Given the description of an element on the screen output the (x, y) to click on. 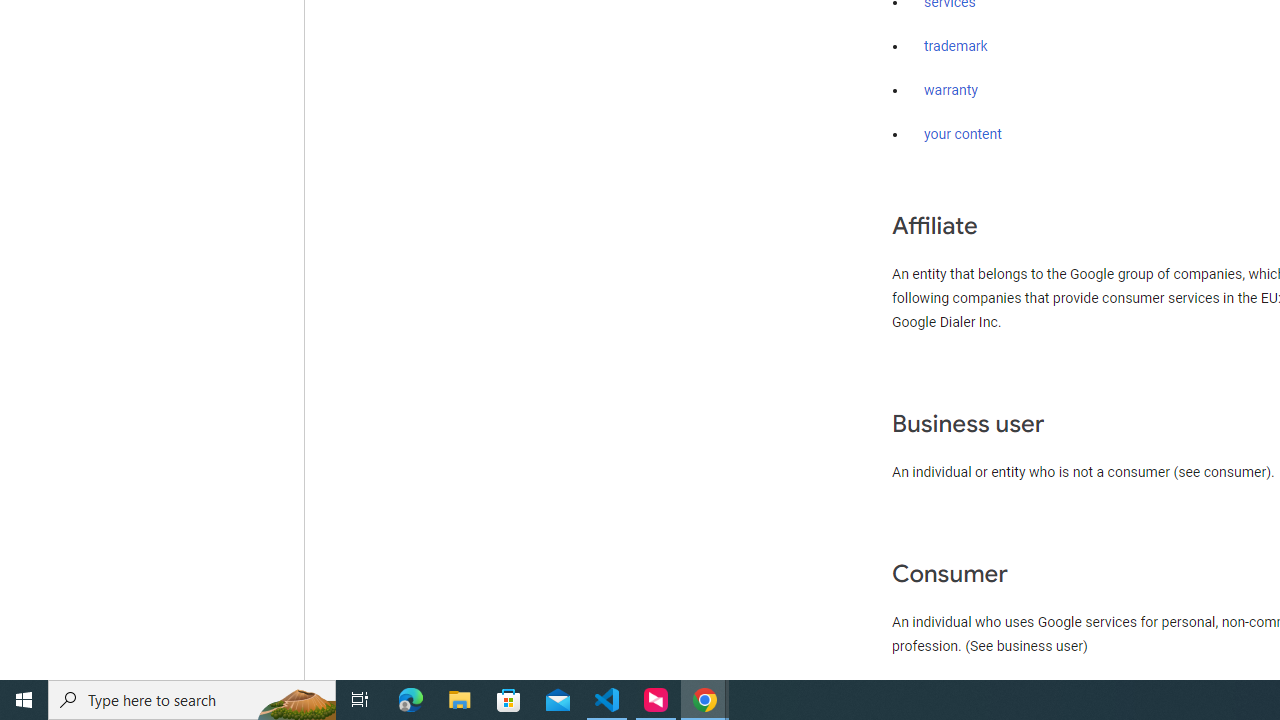
warranty (950, 91)
your content (963, 134)
trademark (956, 47)
